Given the description of an element on the screen output the (x, y) to click on. 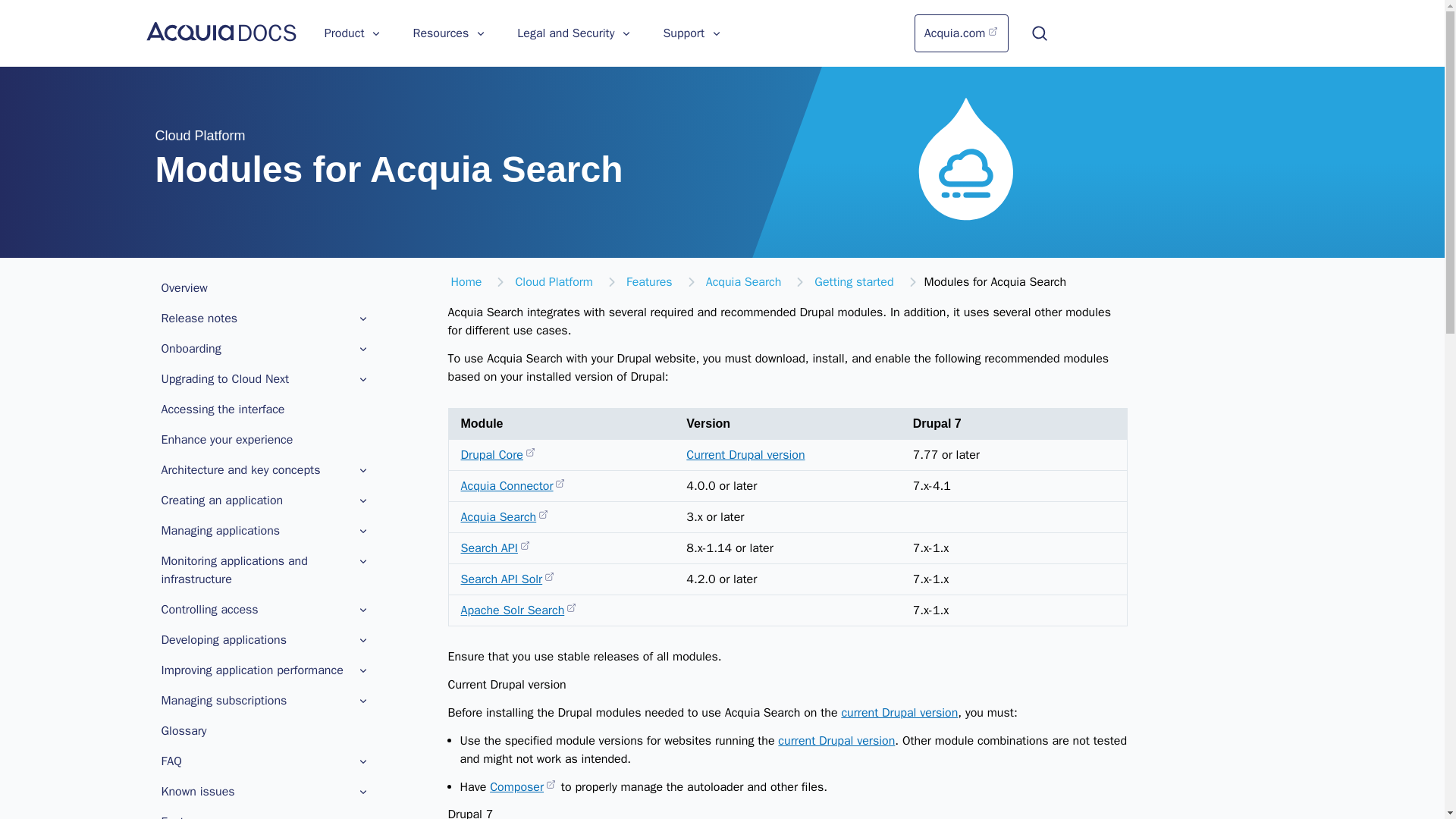
Upgrading to Cloud Next (255, 379)
Creating an application (264, 500)
Improving application performance (264, 670)
Features (264, 814)
Architecture and key concepts (255, 470)
Release notes (255, 318)
FAQ (264, 761)
Glossary (264, 730)
Onboarding (264, 348)
Resources (449, 33)
